Given the description of an element on the screen output the (x, y) to click on. 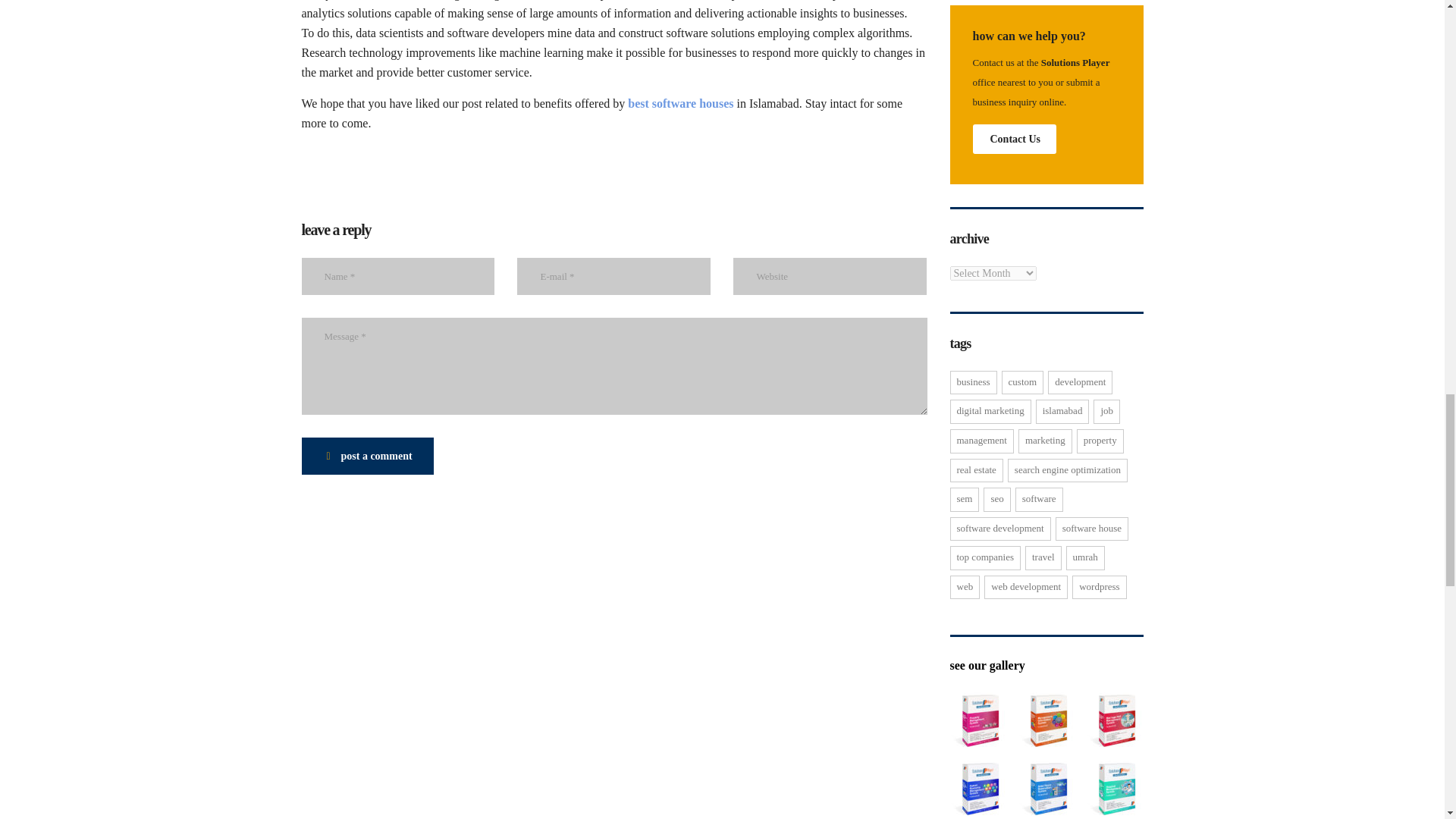
mis (1045, 720)
contact us (1014, 138)
hrms (977, 788)
hotel (1045, 788)
pms (977, 720)
mhms (1114, 720)
hospital software in Pakistan (1114, 788)
